Given the description of an element on the screen output the (x, y) to click on. 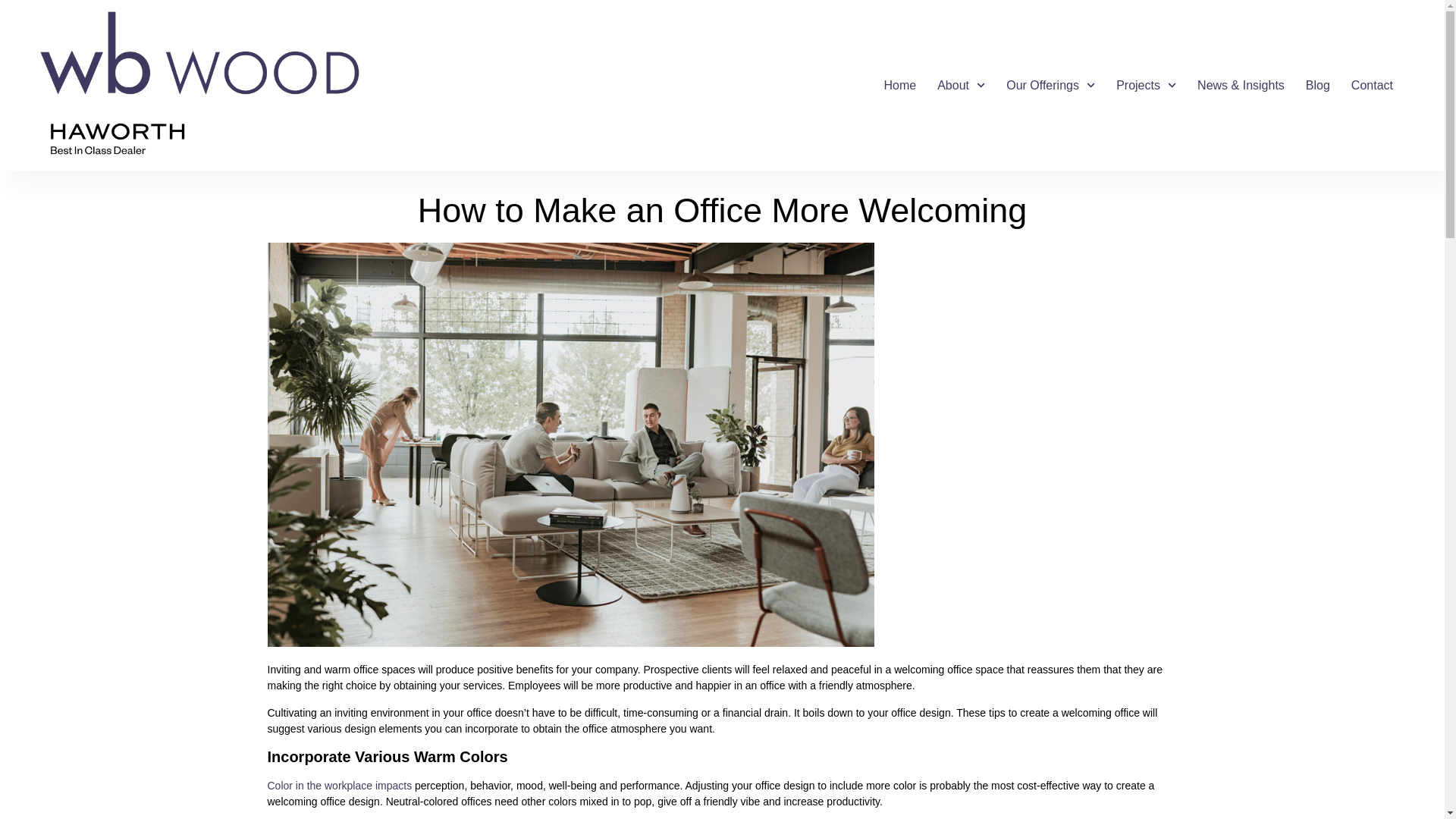
Home (900, 85)
Projects (1145, 85)
Blog (1317, 85)
Our Offerings (1050, 85)
Contact (1371, 85)
About (960, 85)
